Given the description of an element on the screen output the (x, y) to click on. 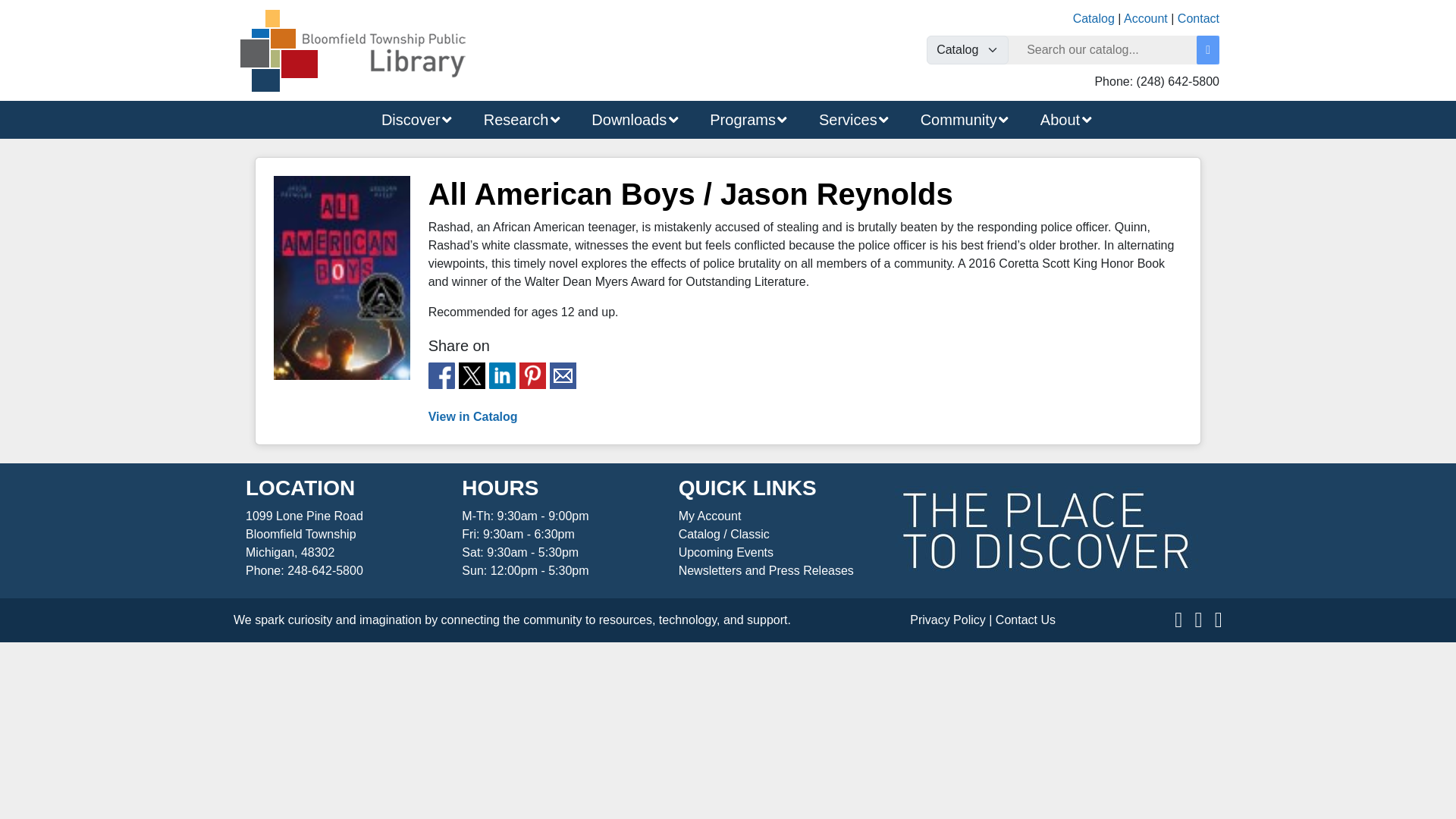
Programs (739, 119)
Account (1145, 18)
Downloads (626, 119)
Services (845, 119)
Catalog (1094, 18)
Discover (408, 119)
Research (513, 119)
Contact (1198, 18)
